Given the description of an element on the screen output the (x, y) to click on. 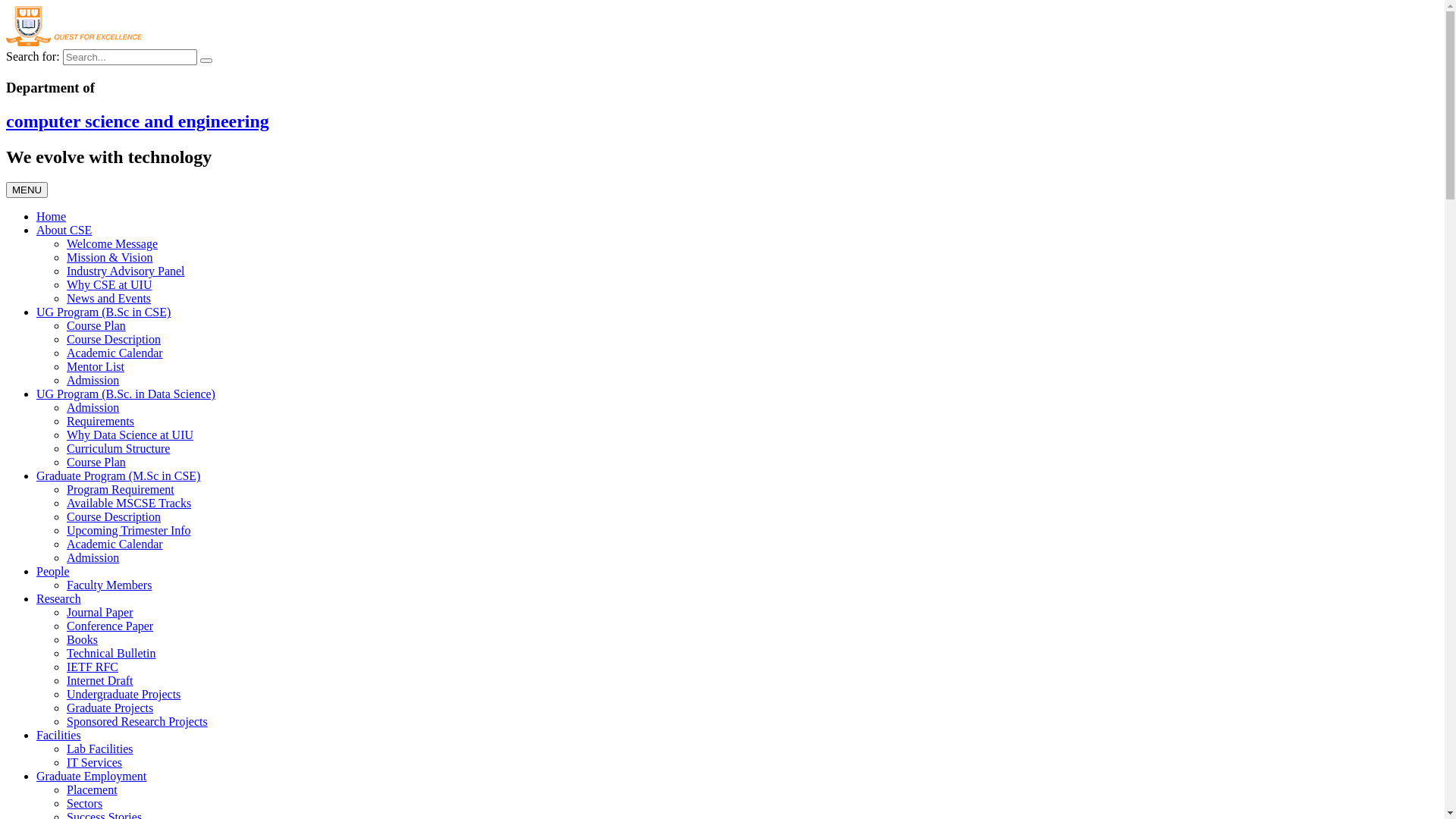
IT Services Element type: text (94, 762)
MENU Element type: text (26, 189)
Home Element type: text (50, 216)
Faculty Members Element type: text (108, 584)
Course Description Element type: text (113, 516)
Placement Element type: text (91, 789)
Journal Paper Element type: text (99, 611)
Course Plan Element type: text (95, 461)
UG Program (B.Sc. in Data Science) Element type: text (125, 393)
Program Requirement Element type: text (120, 489)
Why Data Science at UIU Element type: text (129, 434)
IETF RFC Element type: text (92, 666)
Course Description Element type: text (113, 338)
Academic Calendar Element type: text (114, 543)
Graduate Employment Element type: text (91, 775)
Facilities Element type: text (58, 734)
People Element type: text (52, 570)
Why CSE at UIU Element type: text (108, 284)
Mission & Vision Element type: text (109, 257)
News and Events Element type: text (108, 297)
Conference Paper Element type: text (109, 625)
Lab Facilities Element type: text (99, 748)
Technical Bulletin Element type: text (111, 652)
United International University Element type: hover (108, 41)
Academic Calendar Element type: text (114, 352)
Requirements Element type: text (100, 420)
Graduate Program (M.Sc in CSE) Element type: text (118, 475)
Undergraduate Projects Element type: text (123, 693)
computer science and engineering Element type: text (137, 121)
Sectors Element type: text (84, 803)
UG Program (B.Sc in CSE) Element type: text (103, 311)
Upcoming Trimester Info Element type: text (128, 530)
Mentor List Element type: text (95, 366)
About CSE Element type: text (63, 229)
Welcome Message Element type: text (111, 243)
Industry Advisory Panel Element type: text (125, 270)
Admission Element type: text (92, 407)
Available MSCSE Tracks Element type: text (128, 502)
Internet Draft Element type: text (99, 680)
Admission Element type: text (92, 379)
Admission Element type: text (92, 557)
Search Element type: text (206, 60)
Research Element type: text (58, 598)
Sponsored Research Projects Element type: text (136, 721)
Course Plan Element type: text (95, 325)
Graduate Projects Element type: text (109, 707)
Curriculum Structure Element type: text (117, 448)
Books Element type: text (81, 639)
